Given the description of an element on the screen output the (x, y) to click on. 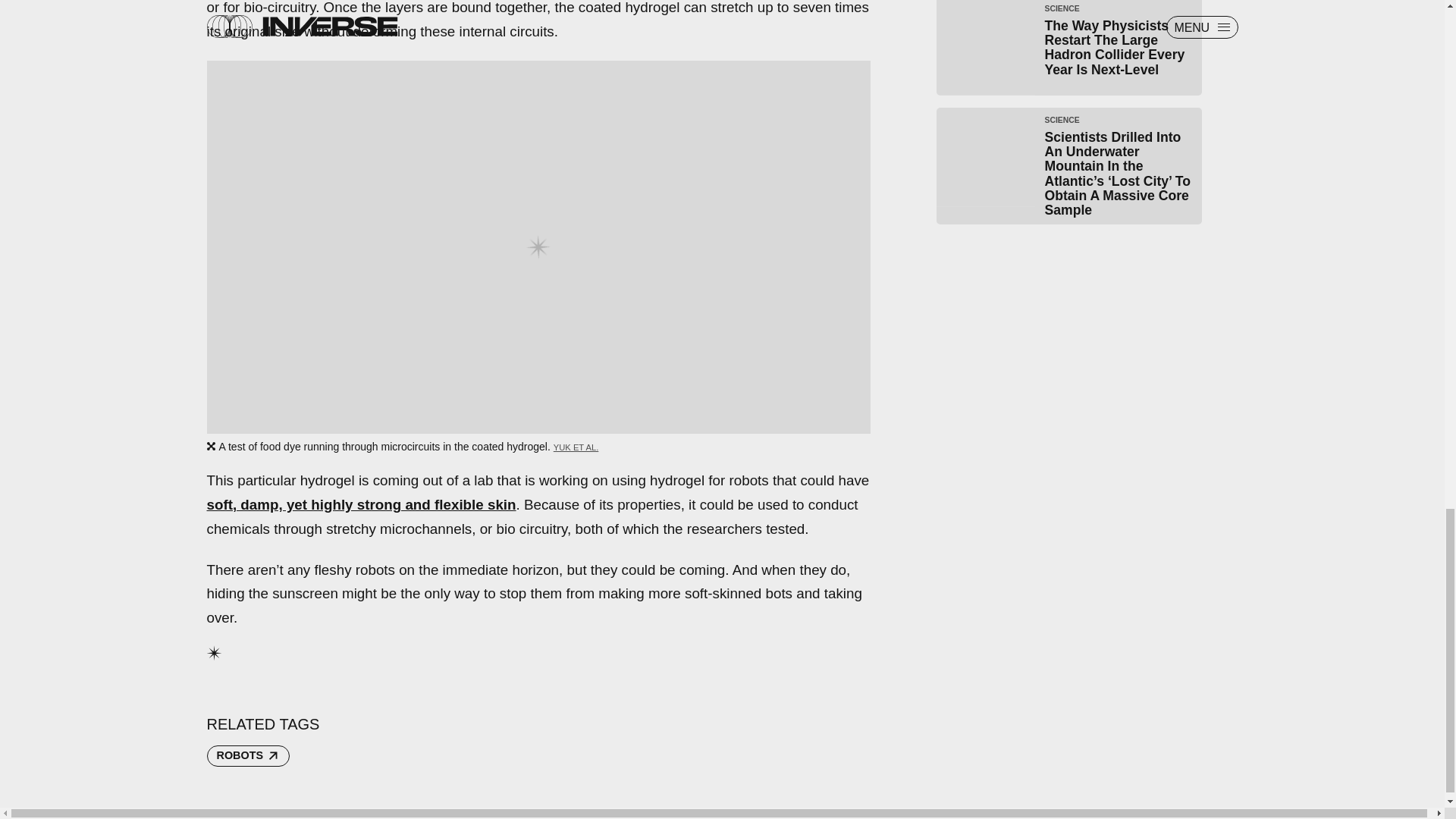
YUK ET AL. (575, 447)
ROBOTS (247, 755)
soft, damp, yet highly strong and flexible skin (360, 504)
